Given the description of an element on the screen output the (x, y) to click on. 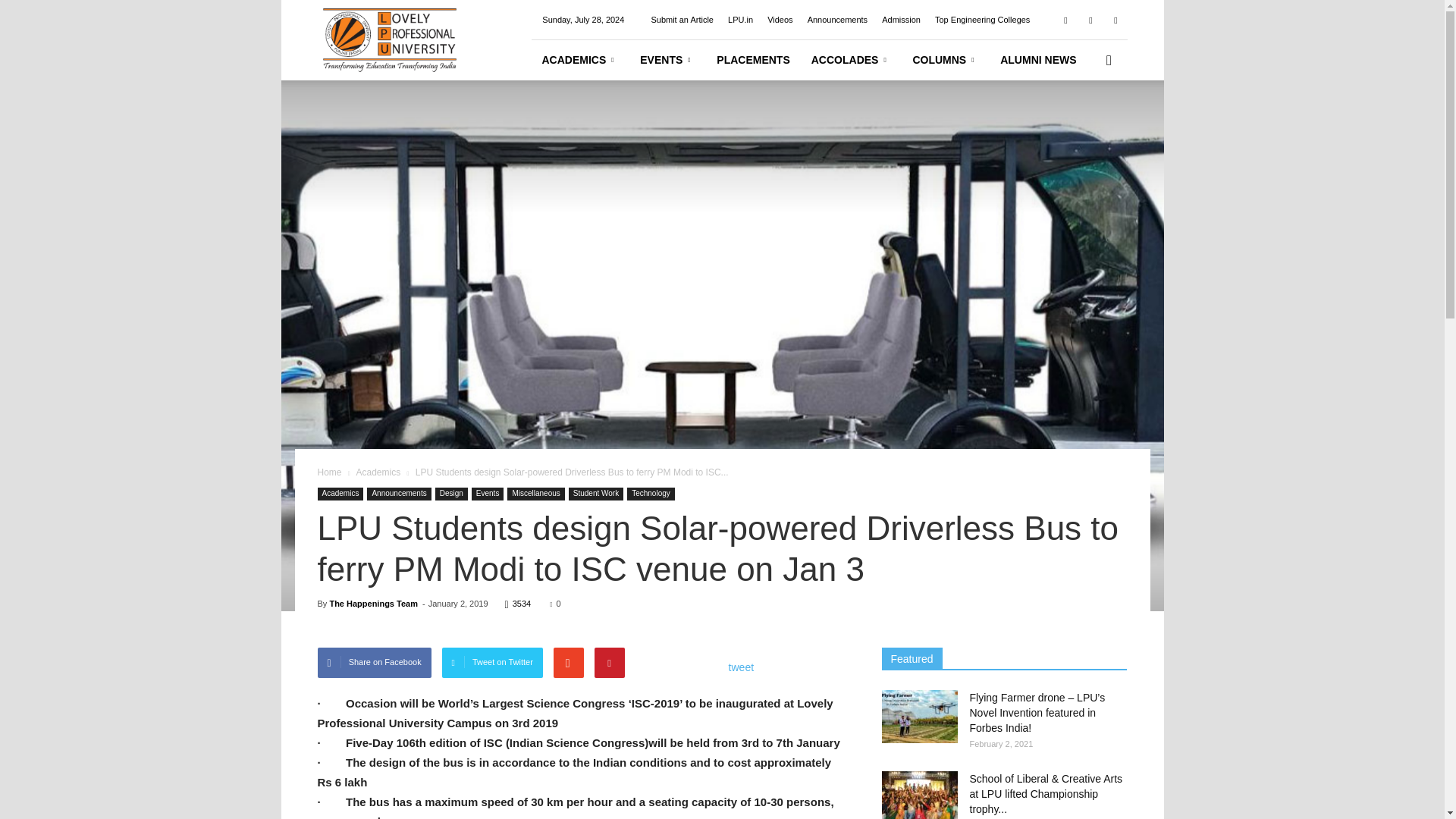
Facebook (1065, 19)
Youtube (1114, 19)
Lovely Professional University (389, 56)
Submit an Article (681, 19)
Admission (901, 19)
Videos (779, 19)
LPU.in (740, 19)
Announcements (837, 19)
View all posts in Academics (377, 471)
Twitter (1090, 19)
